Given the description of an element on the screen output the (x, y) to click on. 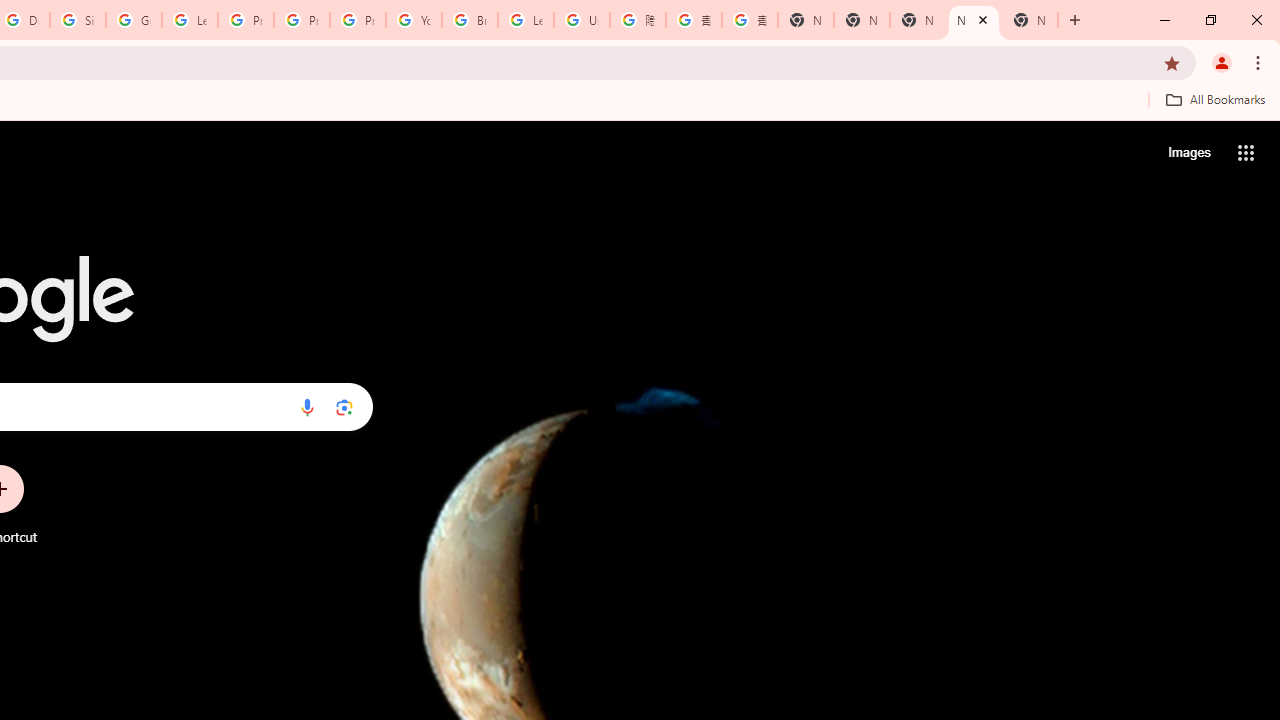
New Tab (806, 20)
Privacy Help Center - Policies Help (245, 20)
